Given the description of an element on the screen output the (x, y) to click on. 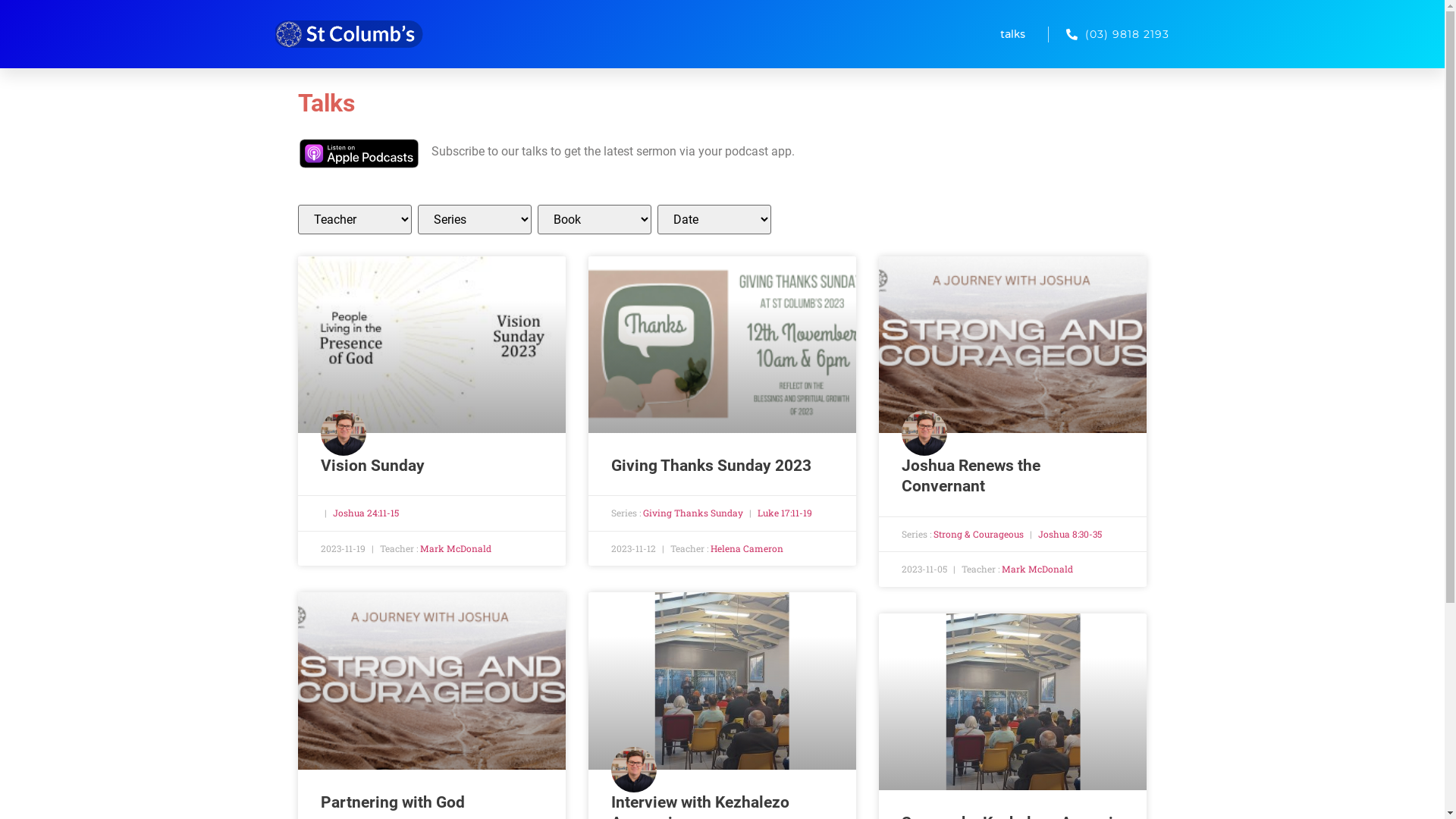
Giving Thanks Sunday Element type: text (693, 512)
Partnering with God Element type: text (392, 802)
Mark McDonald Element type: text (1037, 568)
Joshua 8:30-35 Element type: text (1069, 533)
Luke 17:11-19 Element type: text (784, 512)
Joshua Renews the Convernant Element type: text (970, 475)
Vision Sunday Element type: text (371, 465)
Strong & Courageous Element type: text (978, 533)
Helena Cameron Element type: text (746, 548)
Giving Thanks Sunday 2023 Element type: text (711, 465)
Joshua 24:11-15 Element type: text (365, 512)
Mark McDonald Element type: text (455, 548)
talks Element type: text (1012, 34)
